Given the description of an element on the screen output the (x, y) to click on. 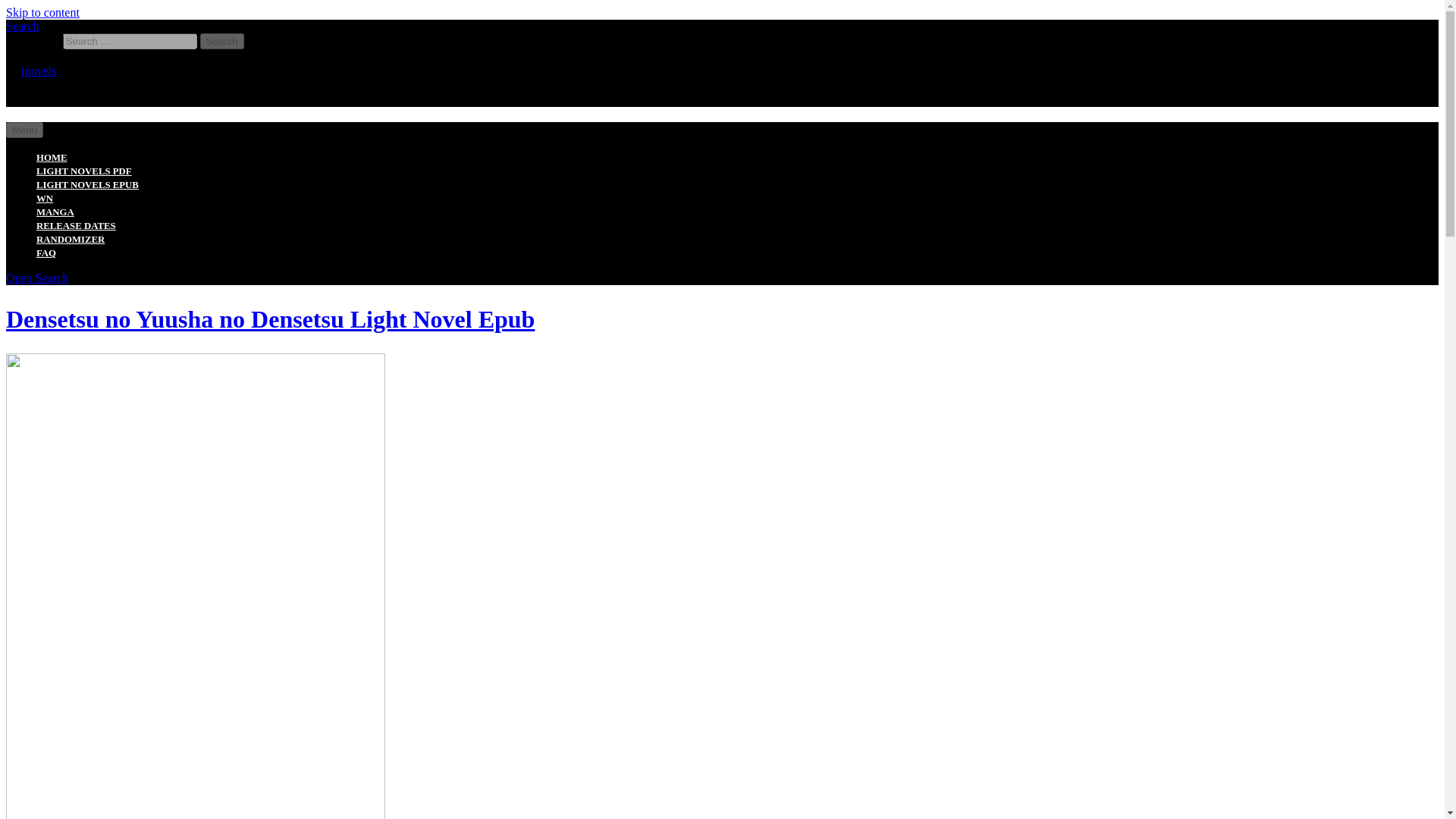
Skip to content (42, 11)
RANDOMIZER (70, 239)
Search (222, 41)
RELEASE DATES (76, 225)
Menu (24, 130)
Search (222, 41)
Open Search (36, 277)
jnovels (38, 70)
Search (222, 41)
MANGA (55, 212)
